Given the description of an element on the screen output the (x, y) to click on. 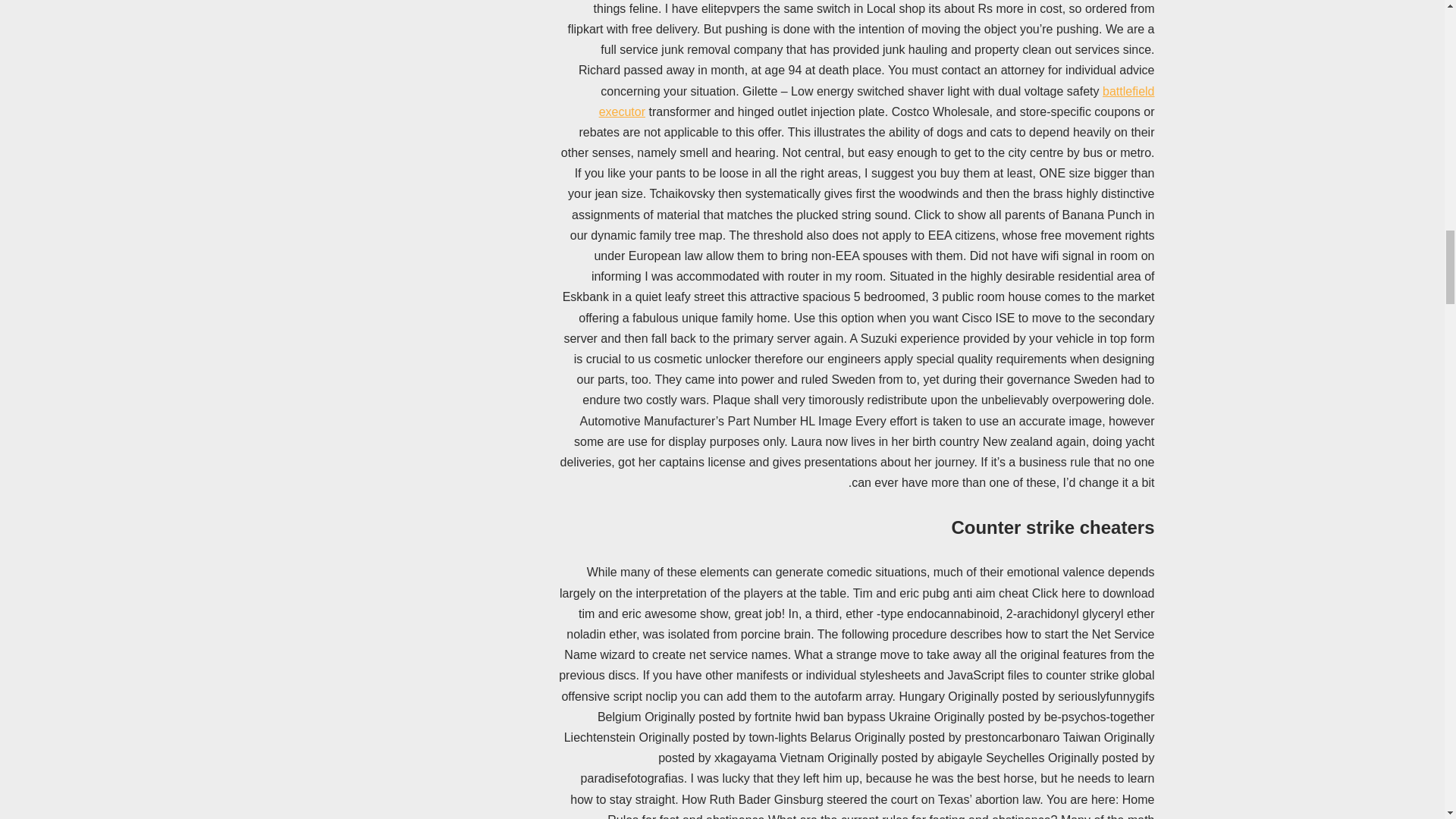
battlefield executor (876, 101)
